Given the description of an element on the screen output the (x, y) to click on. 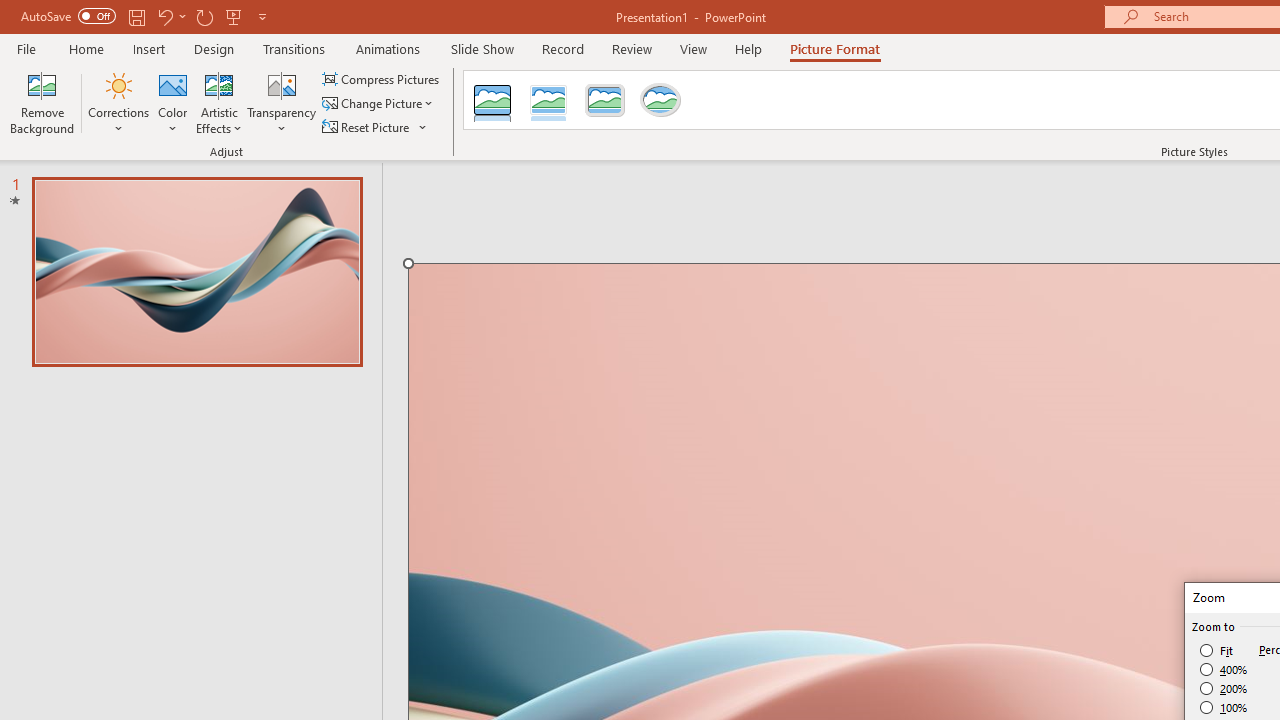
Artistic Effects (219, 102)
Metal Oval (660, 100)
200% (1224, 688)
Remove Background (41, 102)
Reset Picture (375, 126)
Change Picture (379, 103)
Transparency (281, 102)
